Given the description of an element on the screen output the (x, y) to click on. 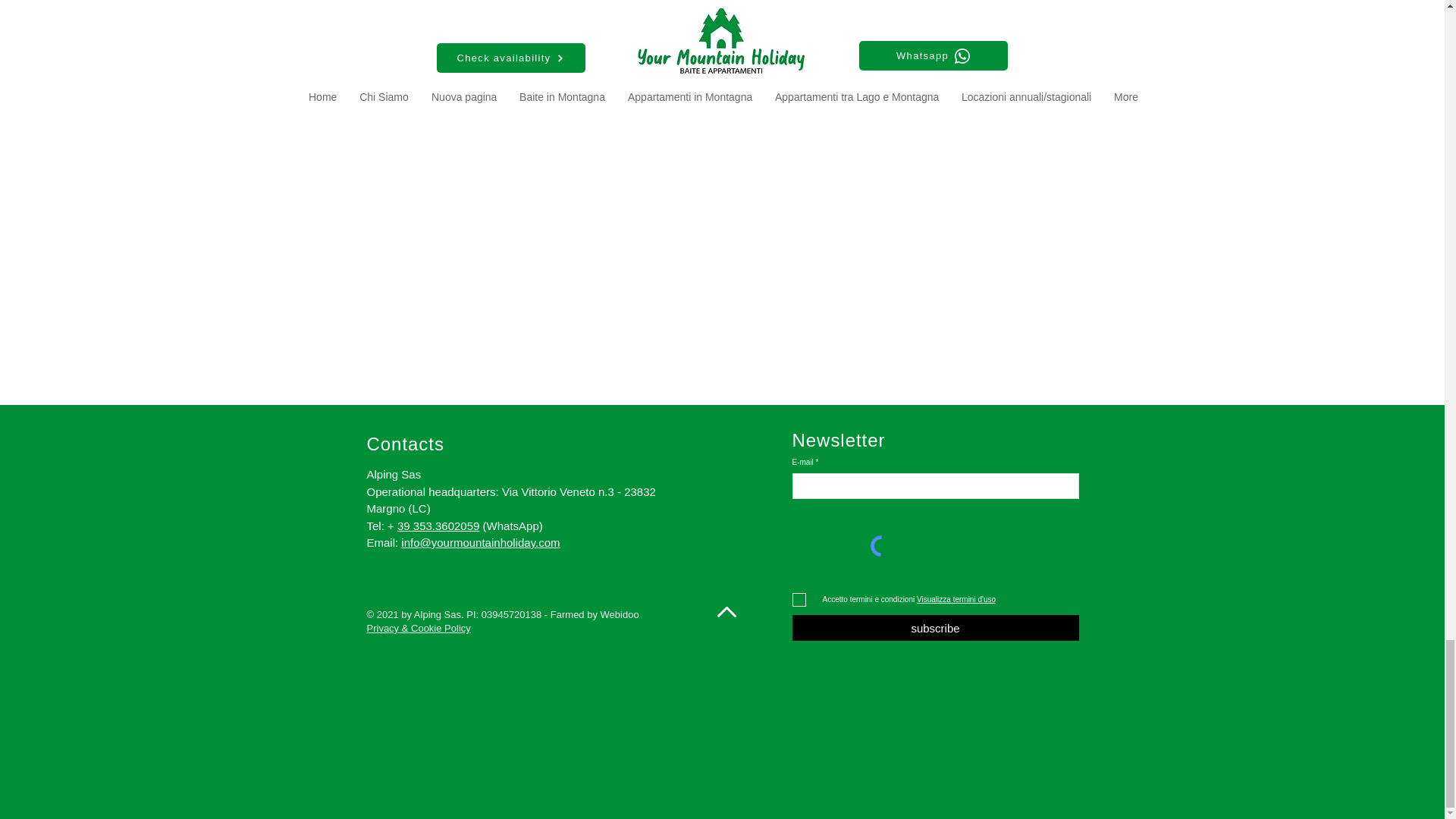
Visualizza termini d'uso (954, 599)
39 353.3602059 (438, 524)
subscribe (935, 627)
